Given the description of an element on the screen output the (x, y) to click on. 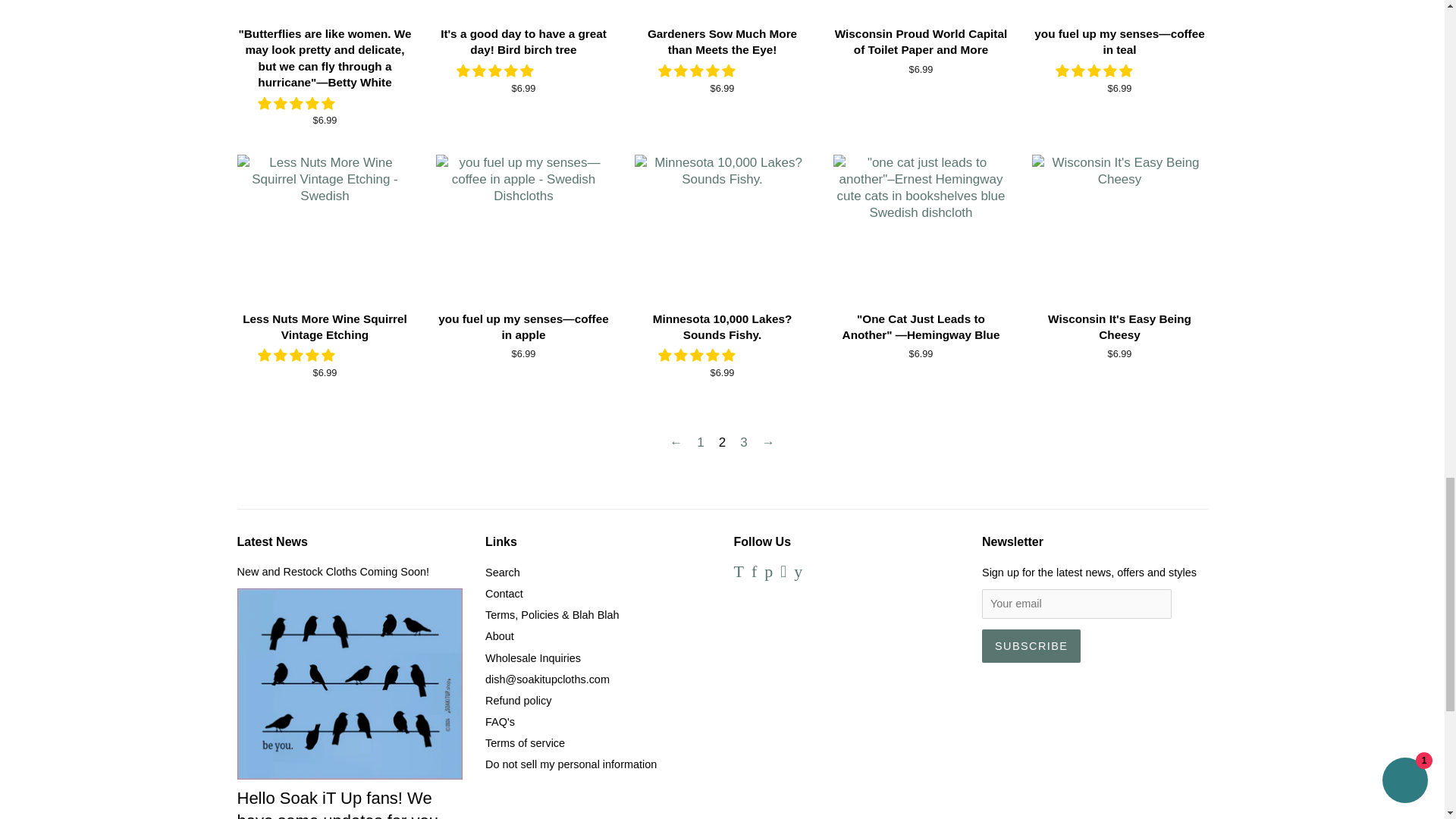
Subscribe (1030, 645)
